Given the description of an element on the screen output the (x, y) to click on. 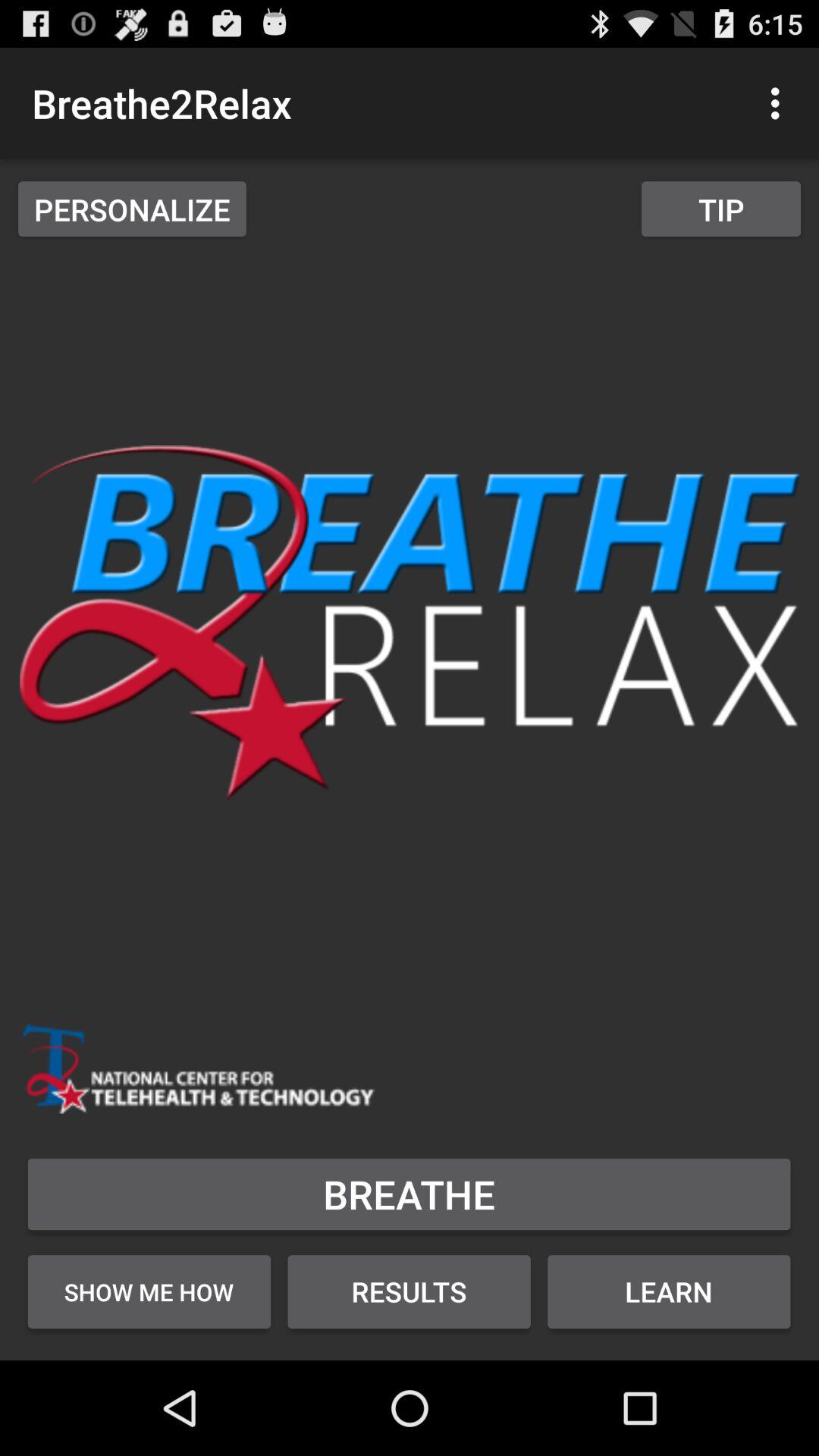
launch item at the bottom right corner (668, 1291)
